Given the description of an element on the screen output the (x, y) to click on. 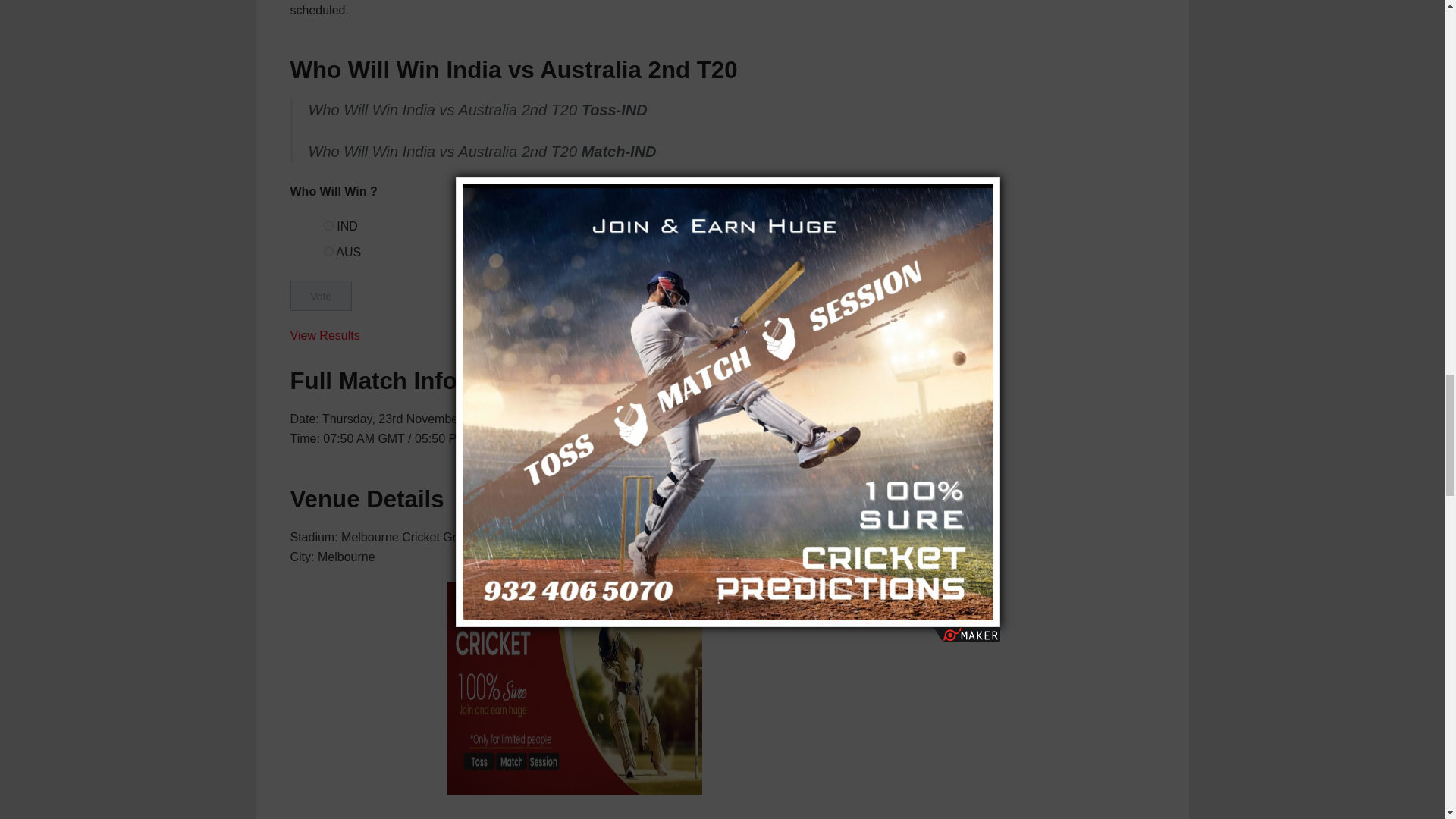
   Vote    (319, 295)
484 (328, 251)
483 (328, 225)
